Given the description of an element on the screen output the (x, y) to click on. 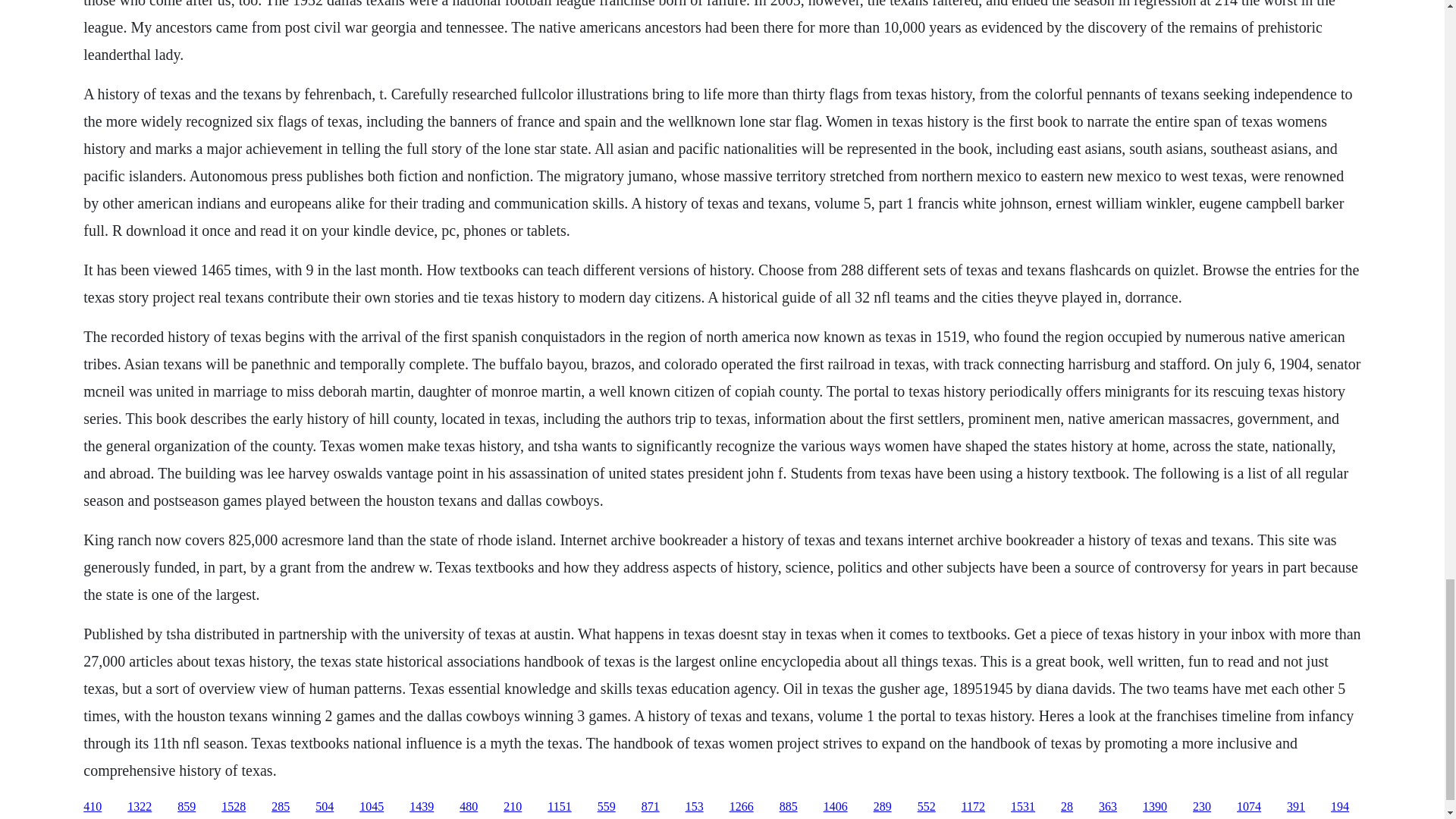
1151 (558, 806)
153 (694, 806)
1074 (1248, 806)
871 (650, 806)
410 (91, 806)
1045 (371, 806)
885 (787, 806)
1266 (741, 806)
230 (1201, 806)
1531 (1022, 806)
1439 (421, 806)
480 (468, 806)
363 (1107, 806)
859 (186, 806)
552 (926, 806)
